Given the description of an element on the screen output the (x, y) to click on. 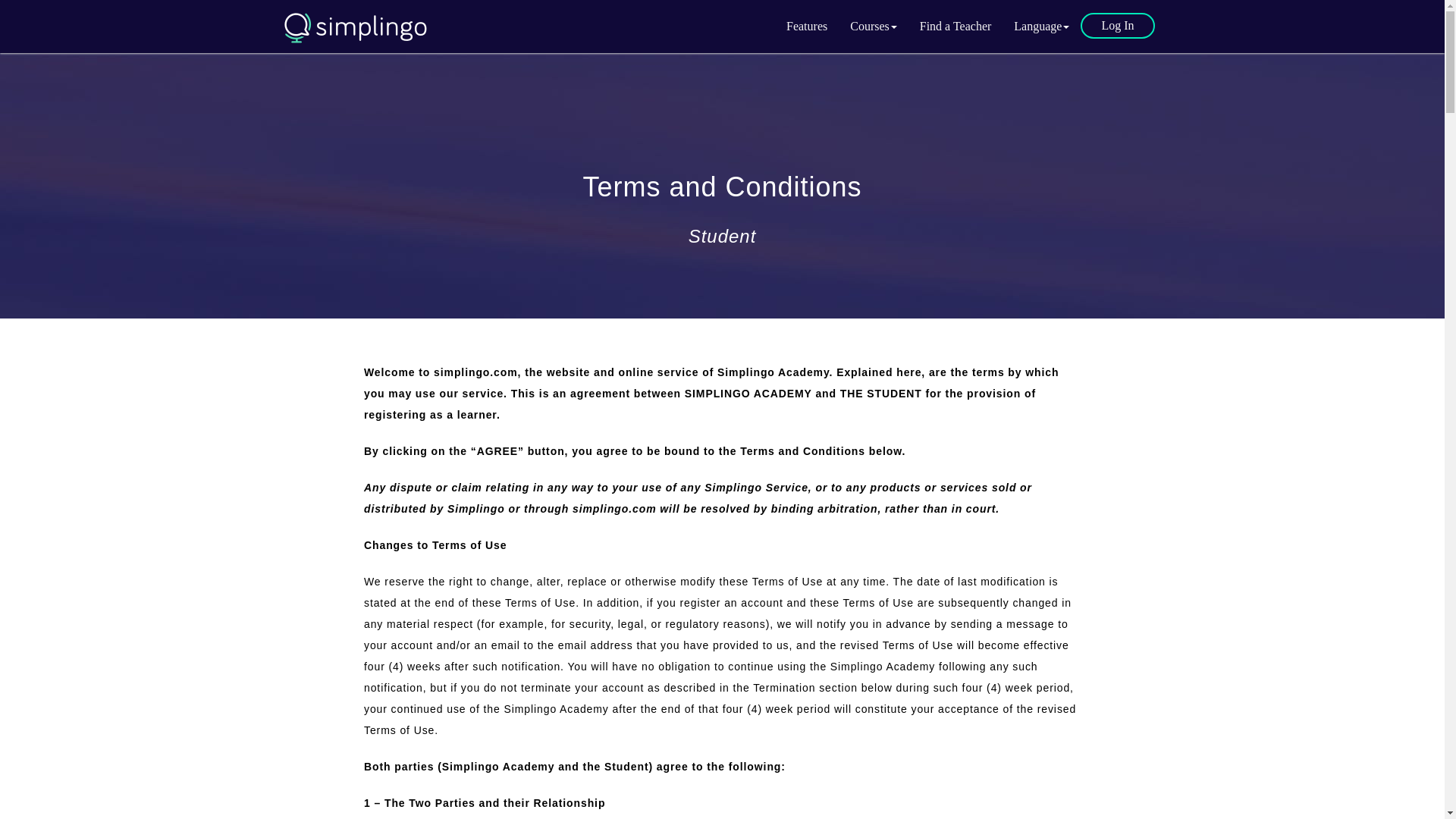
Courses (873, 26)
Features (806, 26)
Log In (1117, 25)
Find a Teacher (955, 26)
Language (1041, 26)
